Given the description of an element on the screen output the (x, y) to click on. 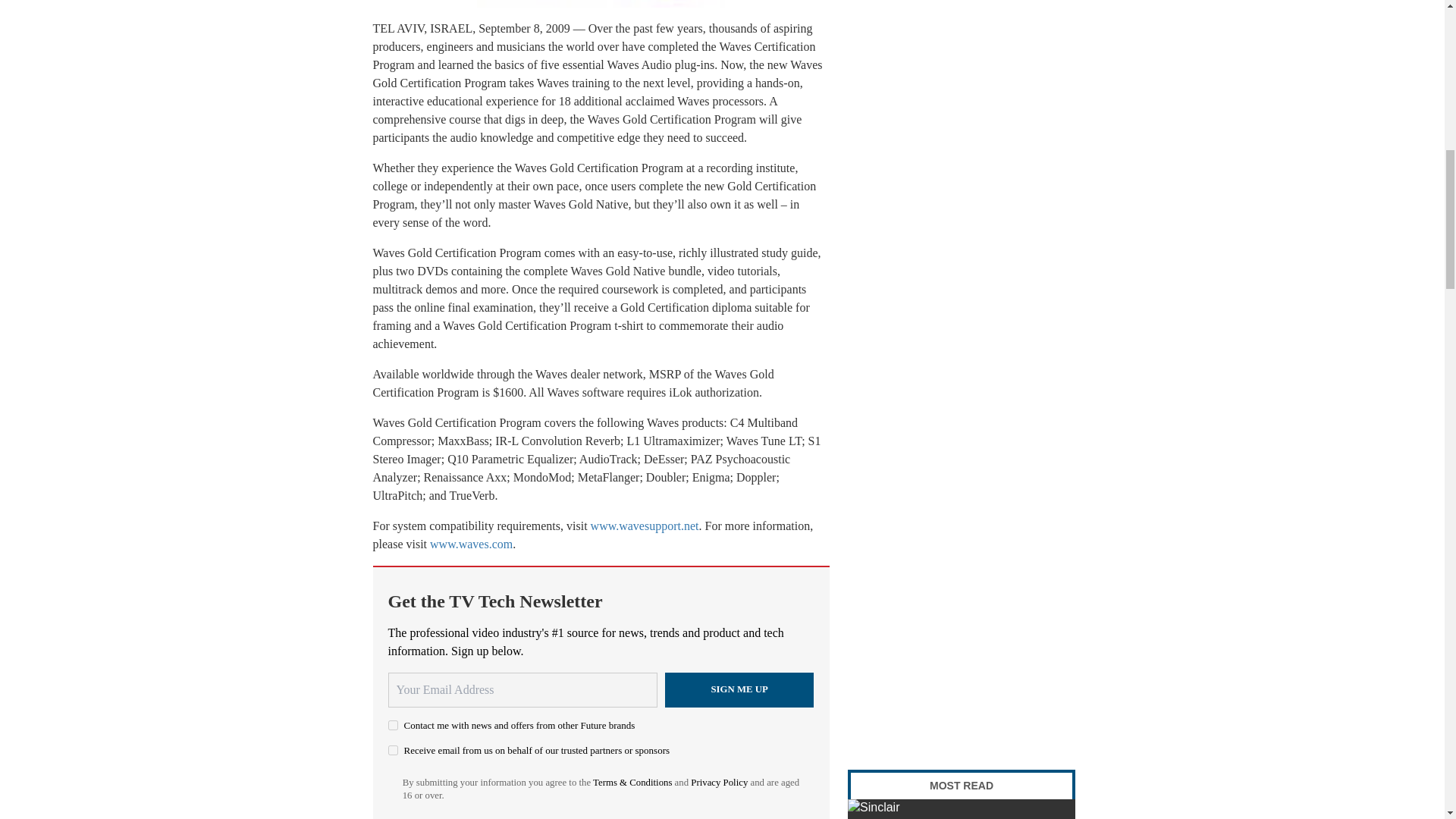
www.waves.com (470, 543)
Sign me up (739, 689)
on (392, 725)
Privacy Policy (719, 782)
Sign me up (739, 689)
Diamond Sports Renews Comcast Distribution Deal (961, 809)
on (392, 750)
www.wavesupport.net (644, 525)
